Given the description of an element on the screen output the (x, y) to click on. 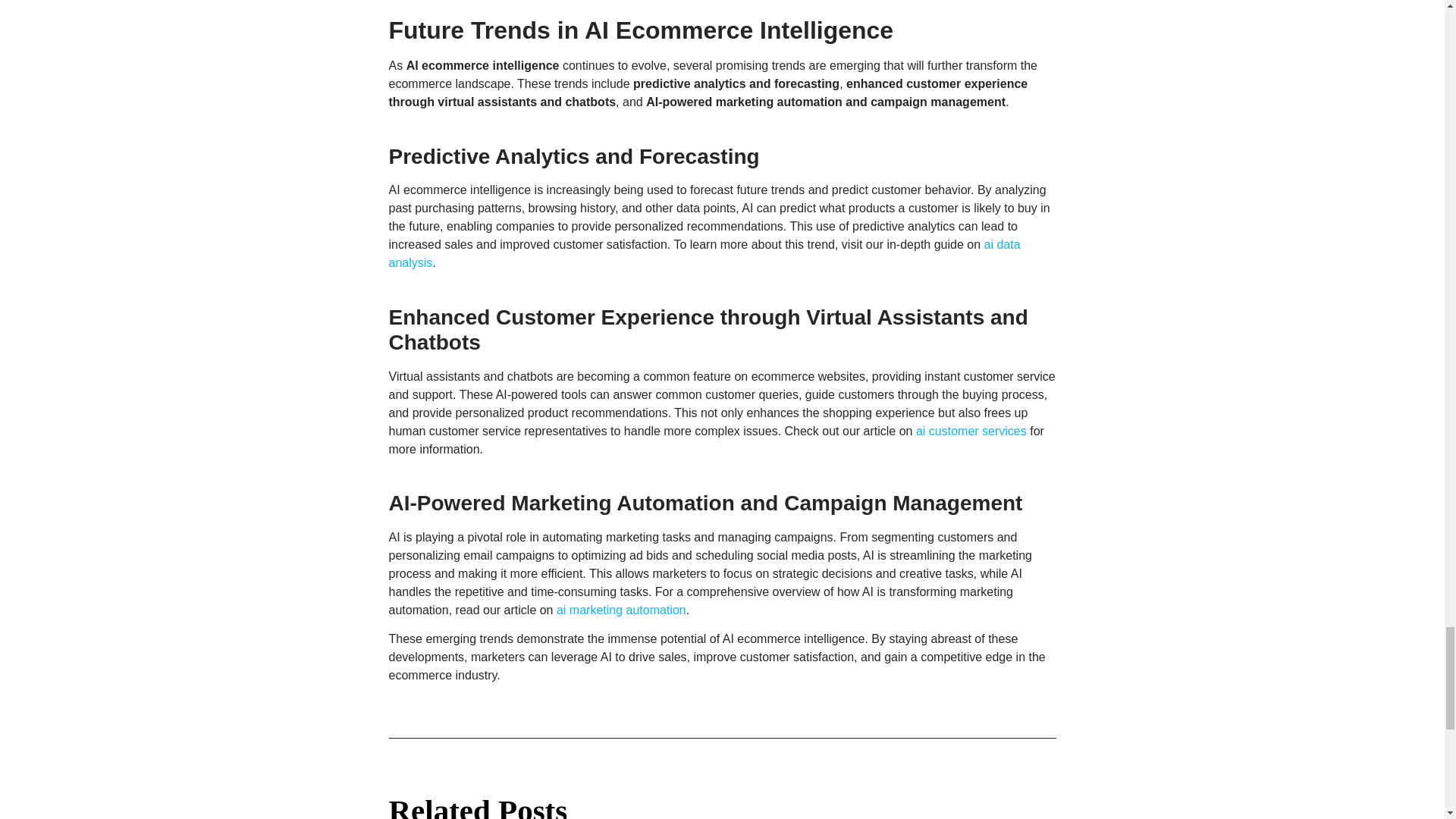
ai data analysis (704, 253)
ai customer services (970, 431)
ai marketing automation (620, 609)
